Given the description of an element on the screen output the (x, y) to click on. 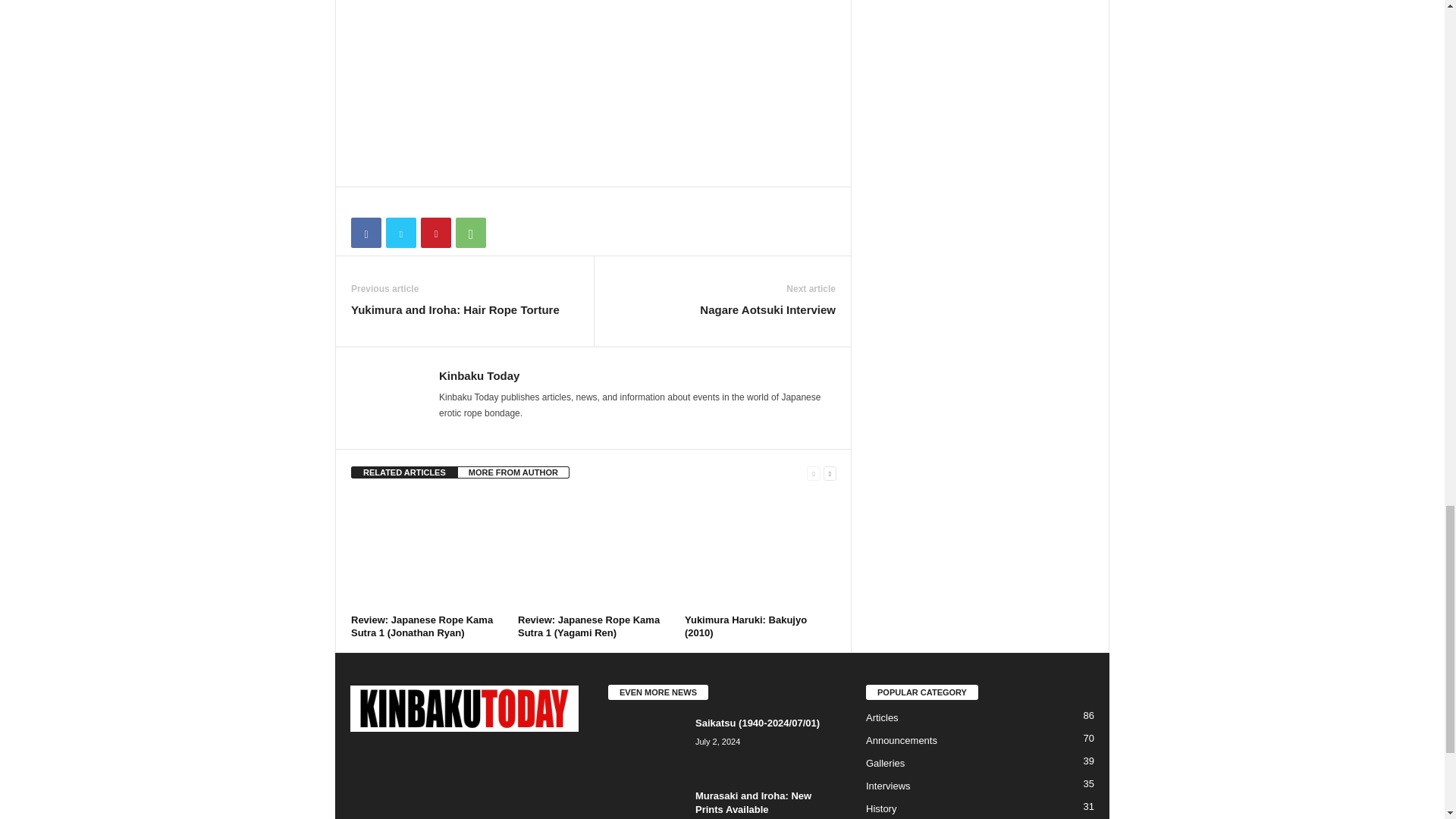
Facebook (365, 232)
Twitter (400, 232)
bottomFacebookLike (390, 202)
WhatsApp (470, 232)
Pinterest (435, 232)
